Given the description of an element on the screen output the (x, y) to click on. 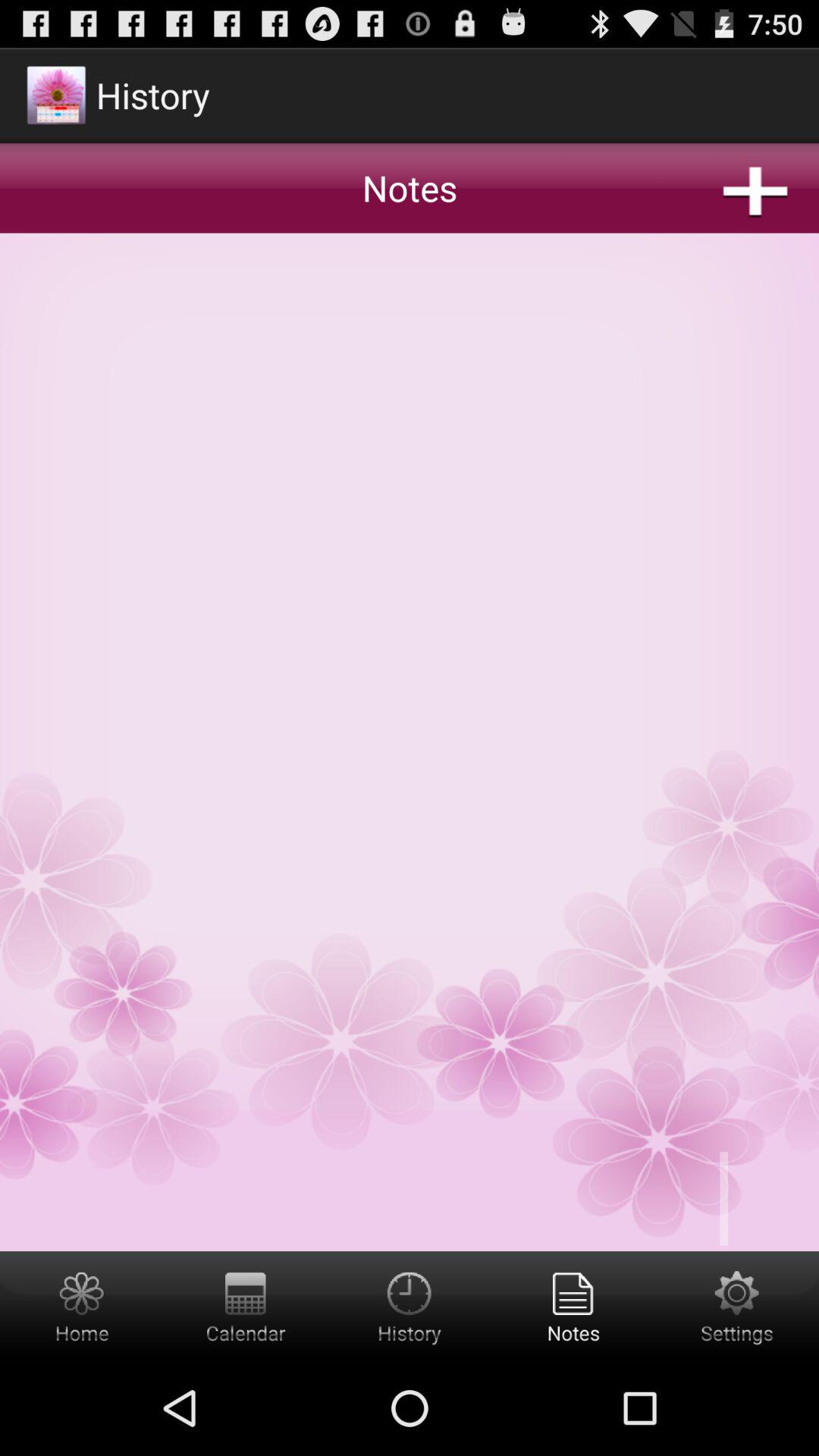
add notes (409, 647)
